Given the description of an element on the screen output the (x, y) to click on. 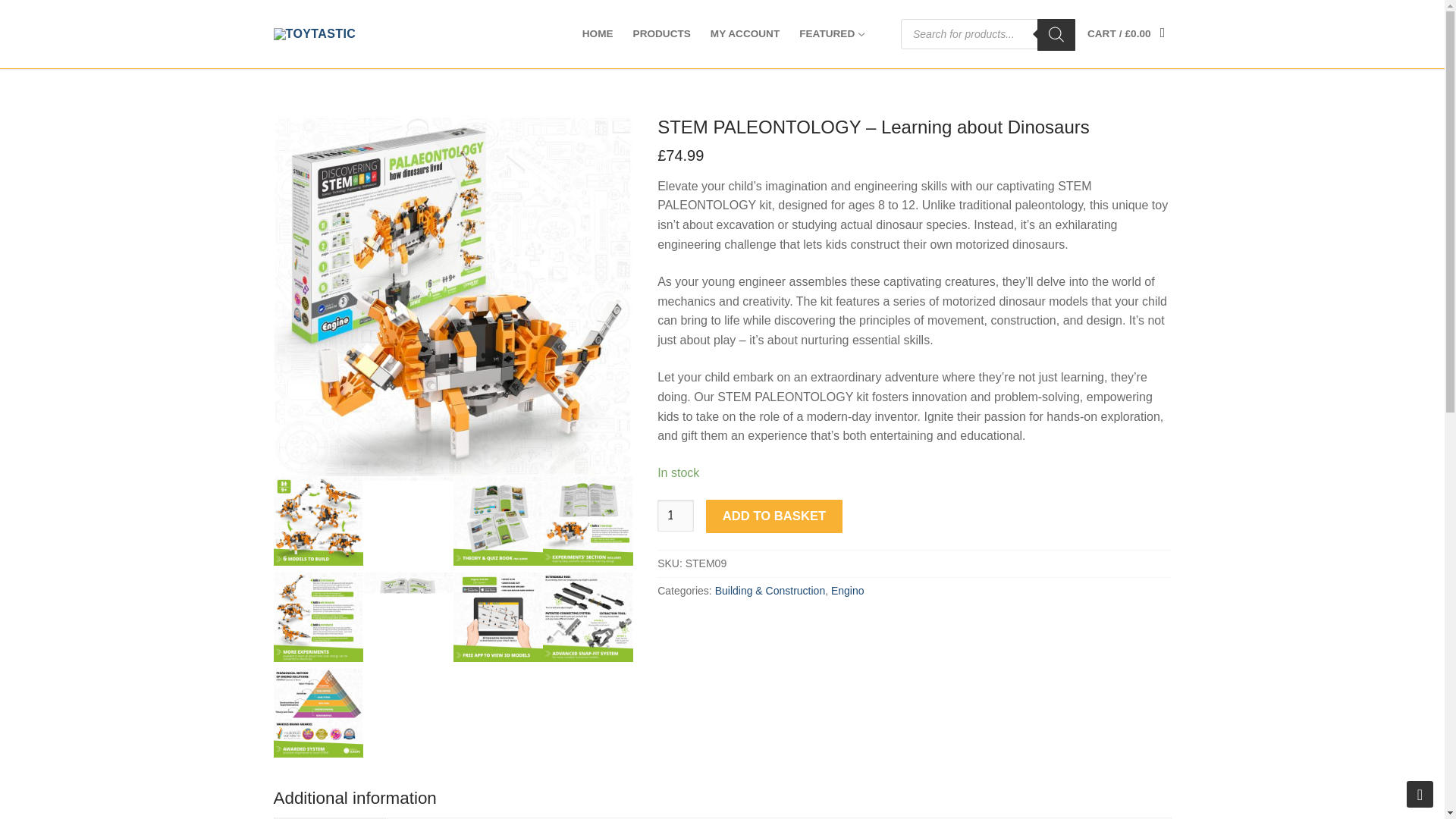
PRODUCTS (661, 33)
10 (317, 713)
3 (407, 520)
1 (453, 295)
4 (497, 520)
7 (407, 616)
2 (317, 520)
9 (588, 616)
MY ACCOUNT (744, 33)
HOME (597, 33)
